Given the description of an element on the screen output the (x, y) to click on. 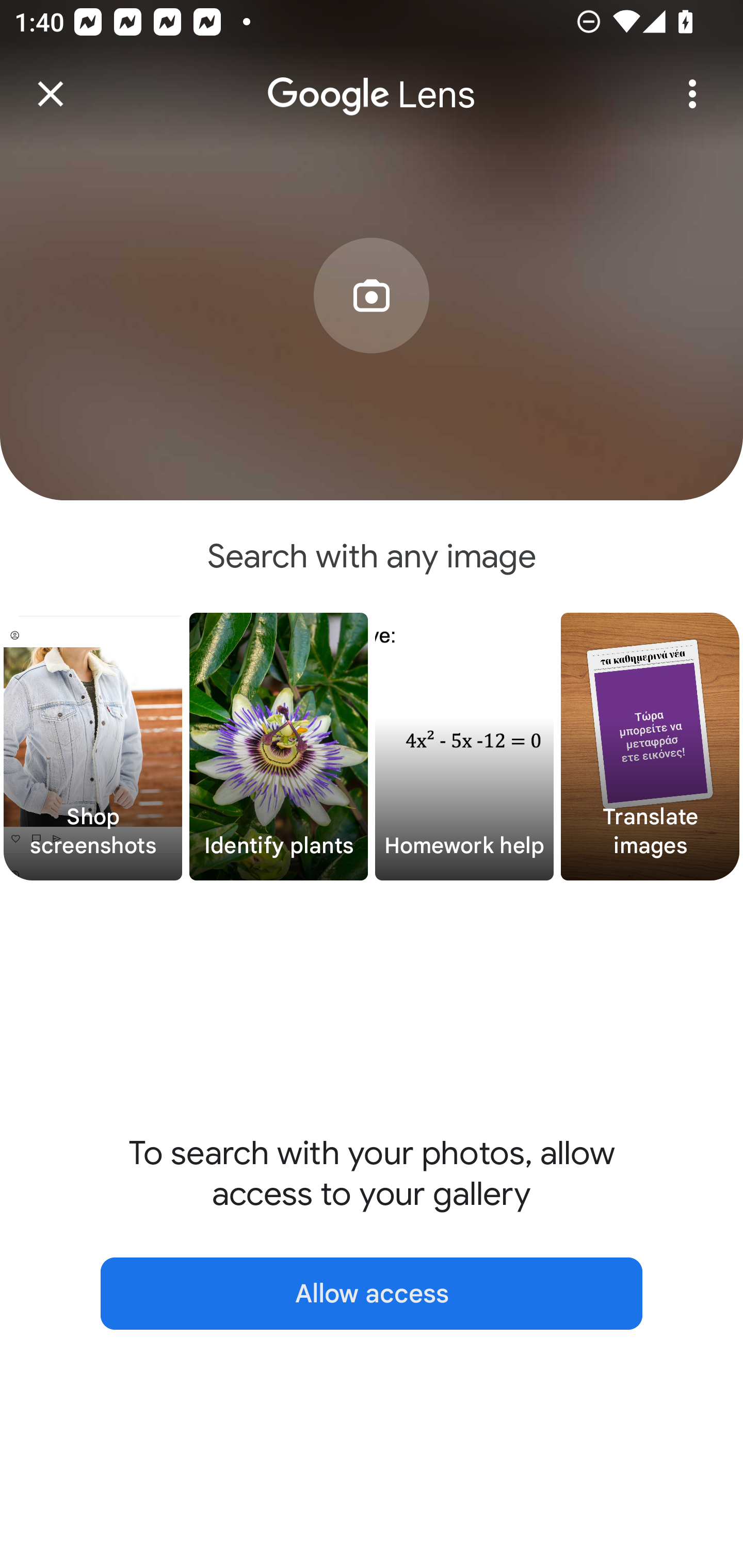
Google Lens Lens (371, 80)
Close (50, 94)
More options (692, 94)
Search with your camera (371, 326)
Shop screenshots (92, 747)
Identify plants (278, 747)
Homework help (464, 747)
Translate images (649, 747)
Allow access (371, 1293)
